Given the description of an element on the screen output the (x, y) to click on. 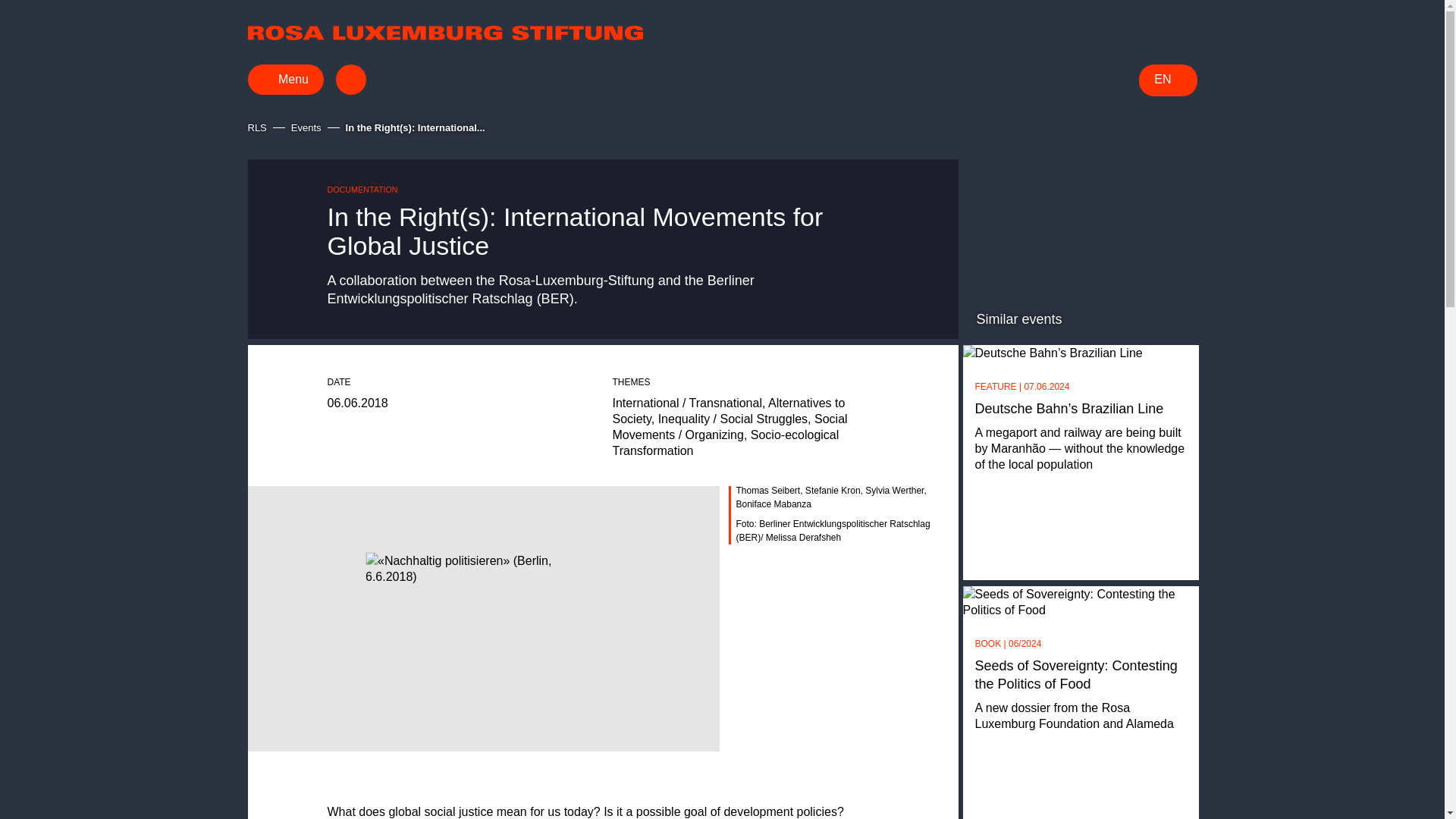
Menu (285, 79)
To start page (444, 32)
